Given the description of an element on the screen output the (x, y) to click on. 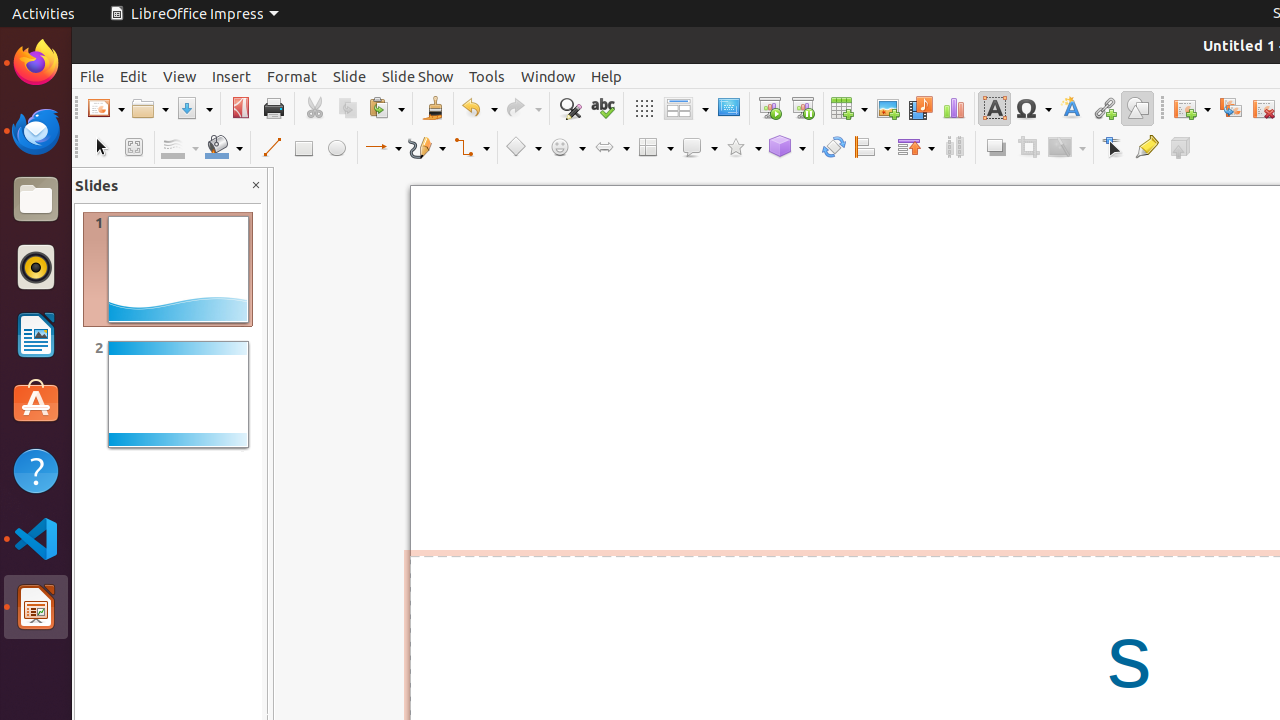
New Element type: push-button (106, 108)
Redo Element type: push-button (523, 108)
Lines and Arrows Element type: push-button (383, 147)
Symbol Element type: push-button (1033, 108)
Rotate Element type: push-button (833, 147)
